Given the description of an element on the screen output the (x, y) to click on. 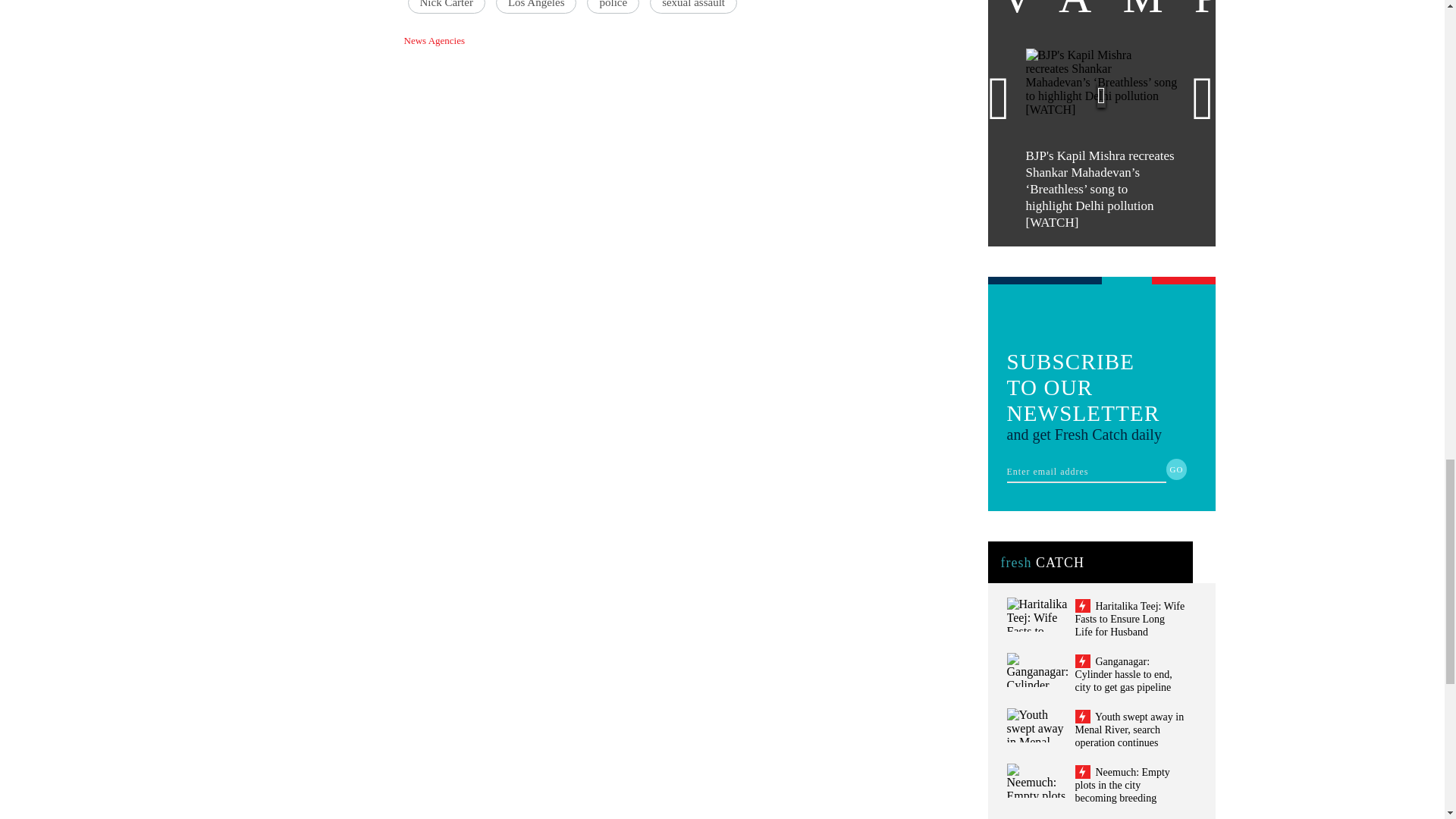
Los Angeles (536, 6)
GO (1177, 468)
sexual assault (692, 6)
police (612, 6)
Nick Carter (445, 6)
